Given the description of an element on the screen output the (x, y) to click on. 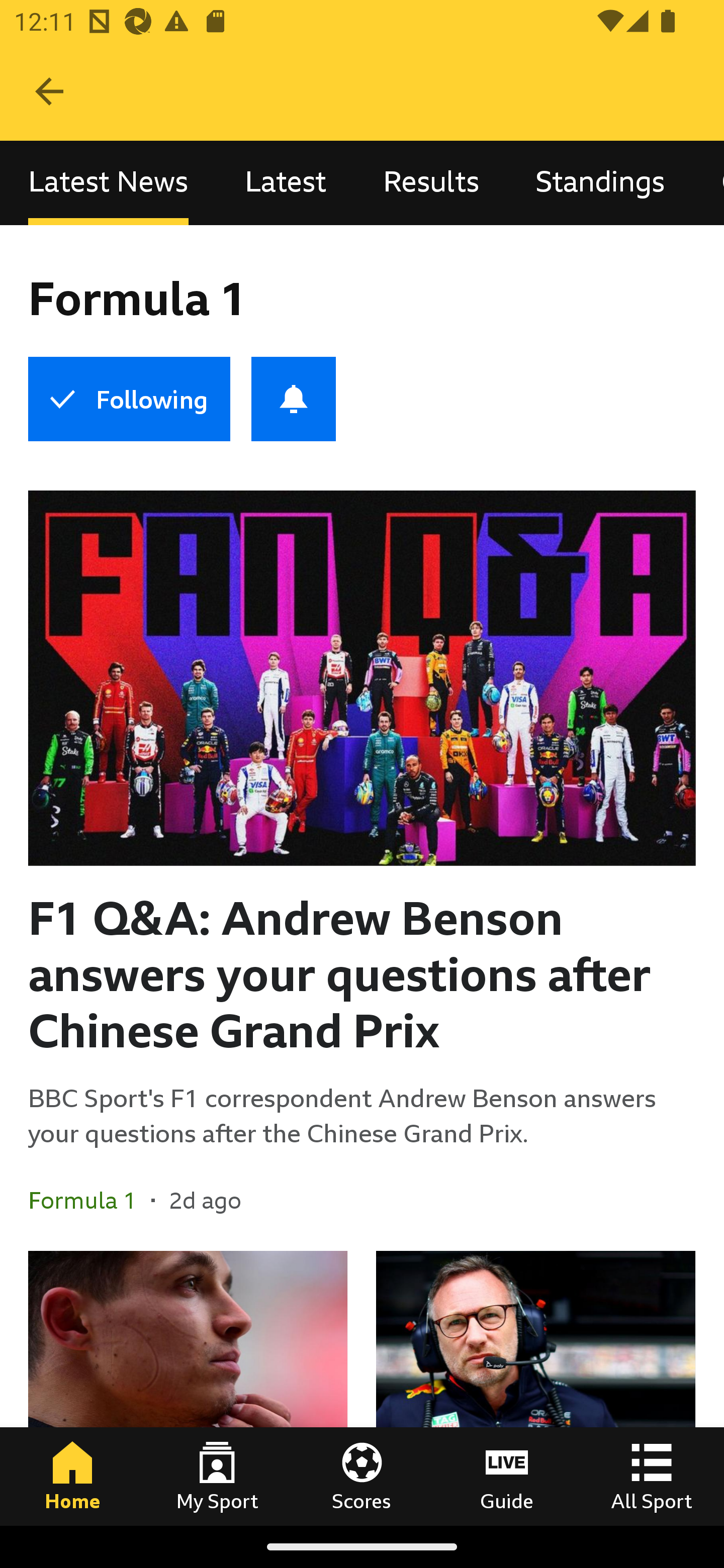
Navigate up (49, 91)
Latest News, selected Latest News (108, 183)
Latest (285, 183)
Results (430, 183)
Standings (600, 183)
Following Formula 1 Following (129, 398)
Push notifications for Formula 1 (293, 398)
Horner criticises Wolff over Verstappen comments (535, 1388)
My Sport (216, 1475)
Scores (361, 1475)
Guide (506, 1475)
All Sport (651, 1475)
